Given the description of an element on the screen output the (x, y) to click on. 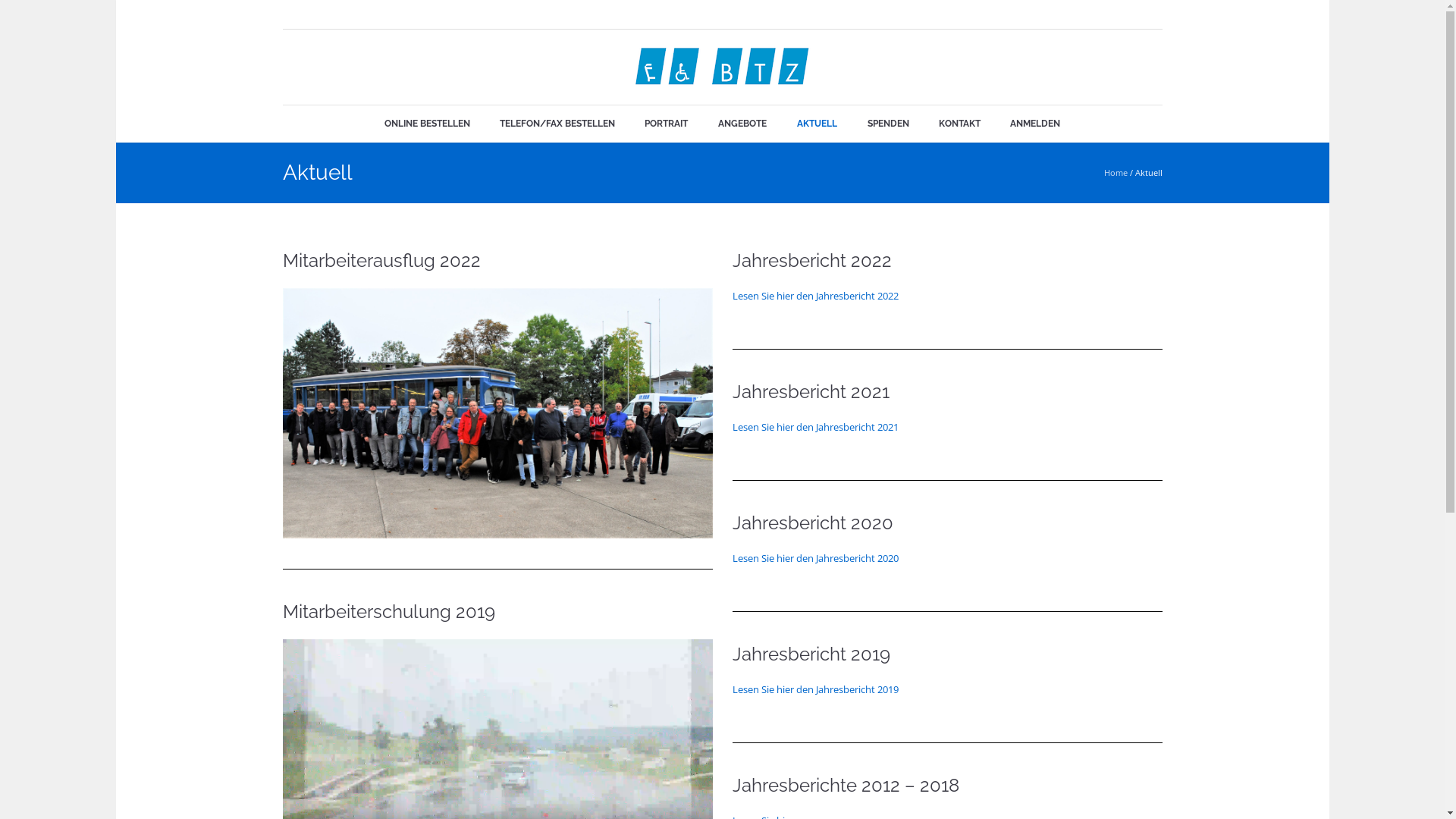
KONTAKT Element type: text (959, 123)
AKTUELL Element type: text (816, 123)
PORTRAIT Element type: text (666, 123)
Lesen Sie hier den Jahresbericht 2019 Element type: text (815, 689)
ONLINE BESTELLEN Element type: text (427, 123)
Lesen Sie hier den Jahresbericht 2020 Element type: text (815, 557)
SPENDEN Element type: text (888, 123)
Lesen Sie hier den Jahresbericht 2022 Element type: text (815, 295)
Lesen Sie hier den Jahresbericht 2021 Element type: text (815, 426)
ANGEBOTE Element type: text (742, 123)
TELEFON/FAX BESTELLEN Element type: text (557, 123)
ANMELDEN Element type: text (1034, 123)
Home Element type: text (1115, 172)
